Given the description of an element on the screen output the (x, y) to click on. 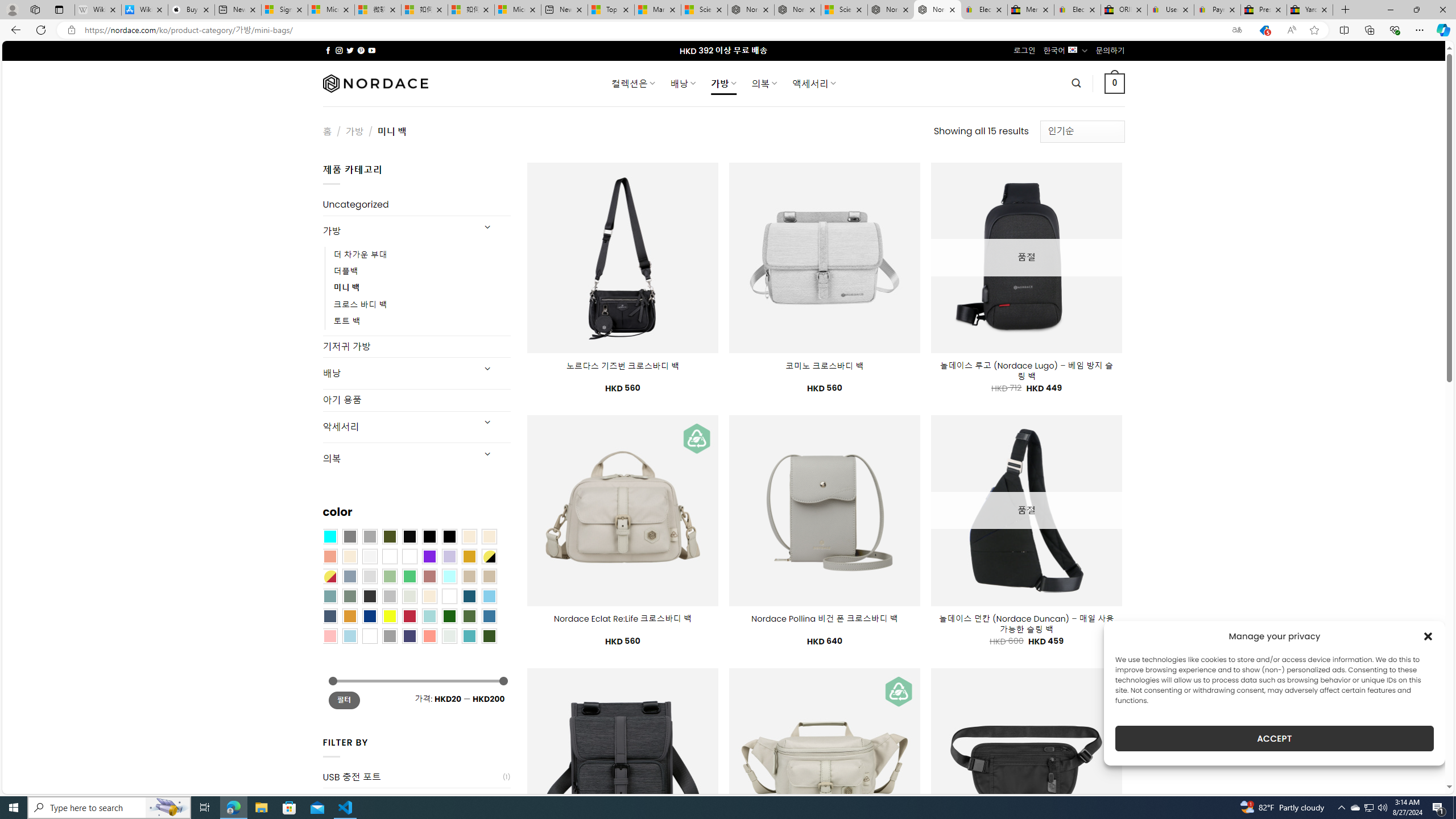
Dull Nickle (449, 635)
Kelp (408, 555)
